Given the description of an element on the screen output the (x, y) to click on. 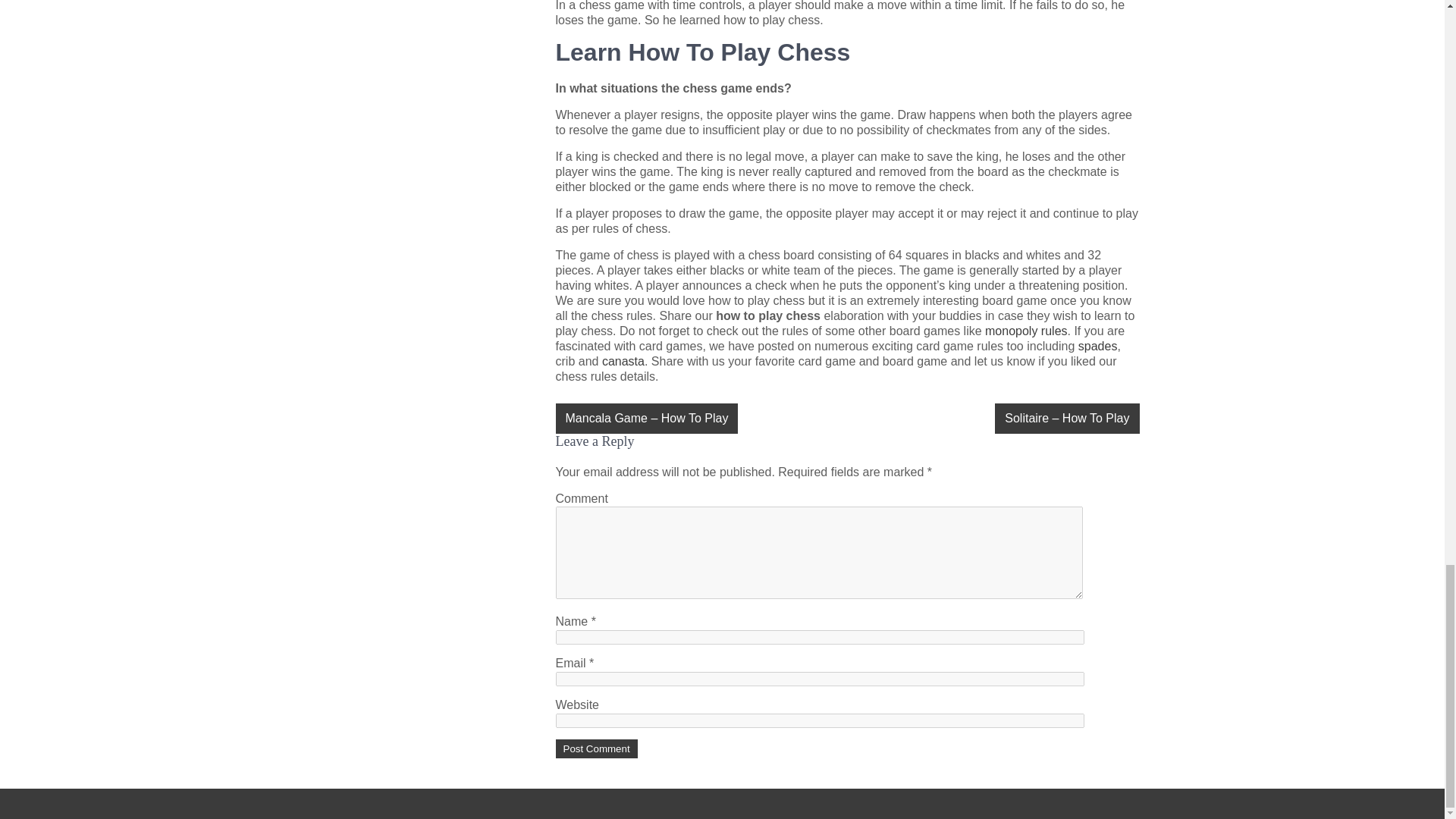
monopoly rules (1026, 330)
Post Comment (595, 748)
spades (1098, 345)
Post Comment (595, 748)
canasta (623, 360)
